Given the description of an element on the screen output the (x, y) to click on. 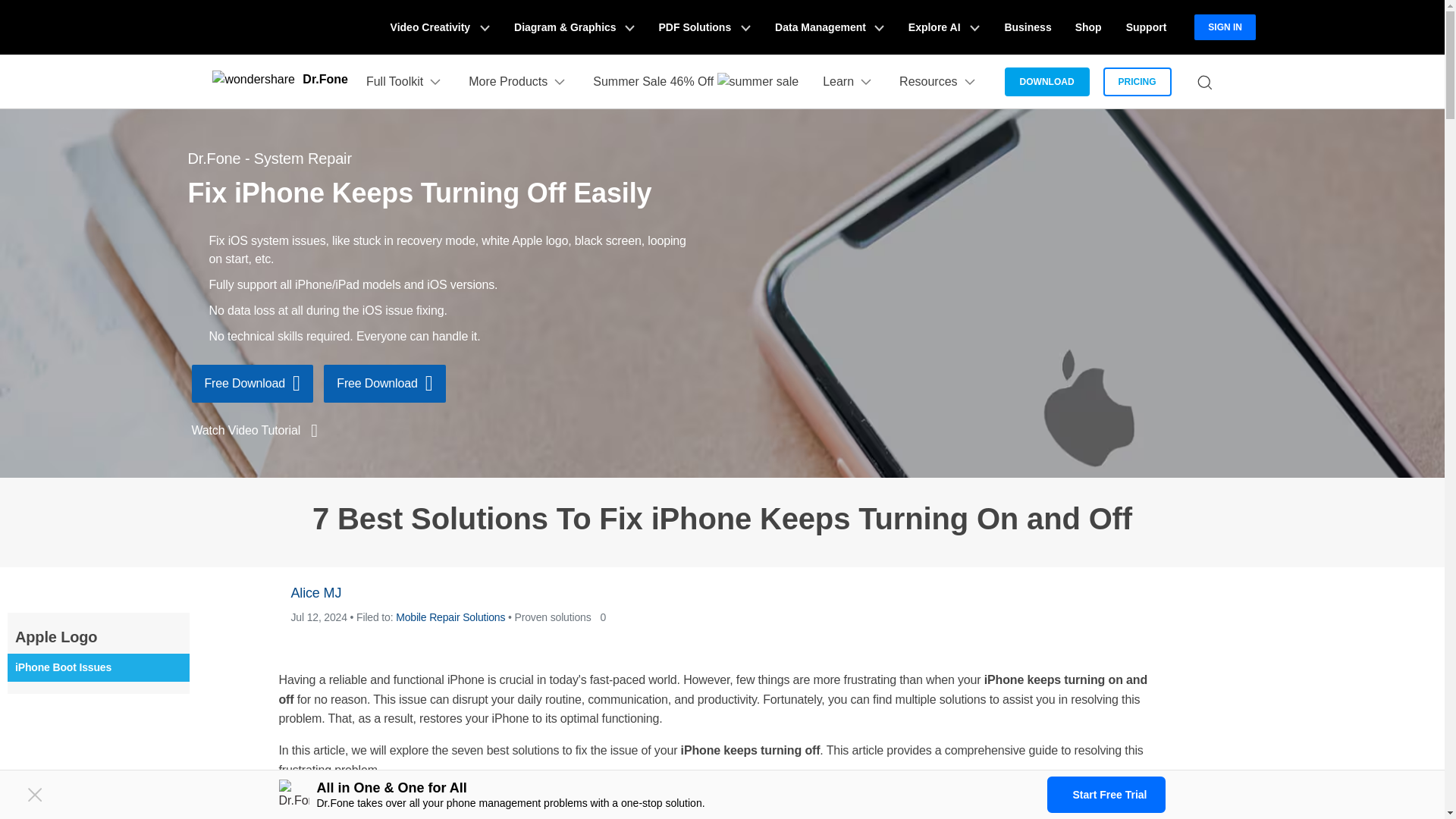
PDF Solutions (704, 27)
Explore AI (943, 27)
Business (1026, 27)
Video Creativity (439, 27)
Data Management (829, 27)
